Given the description of an element on the screen output the (x, y) to click on. 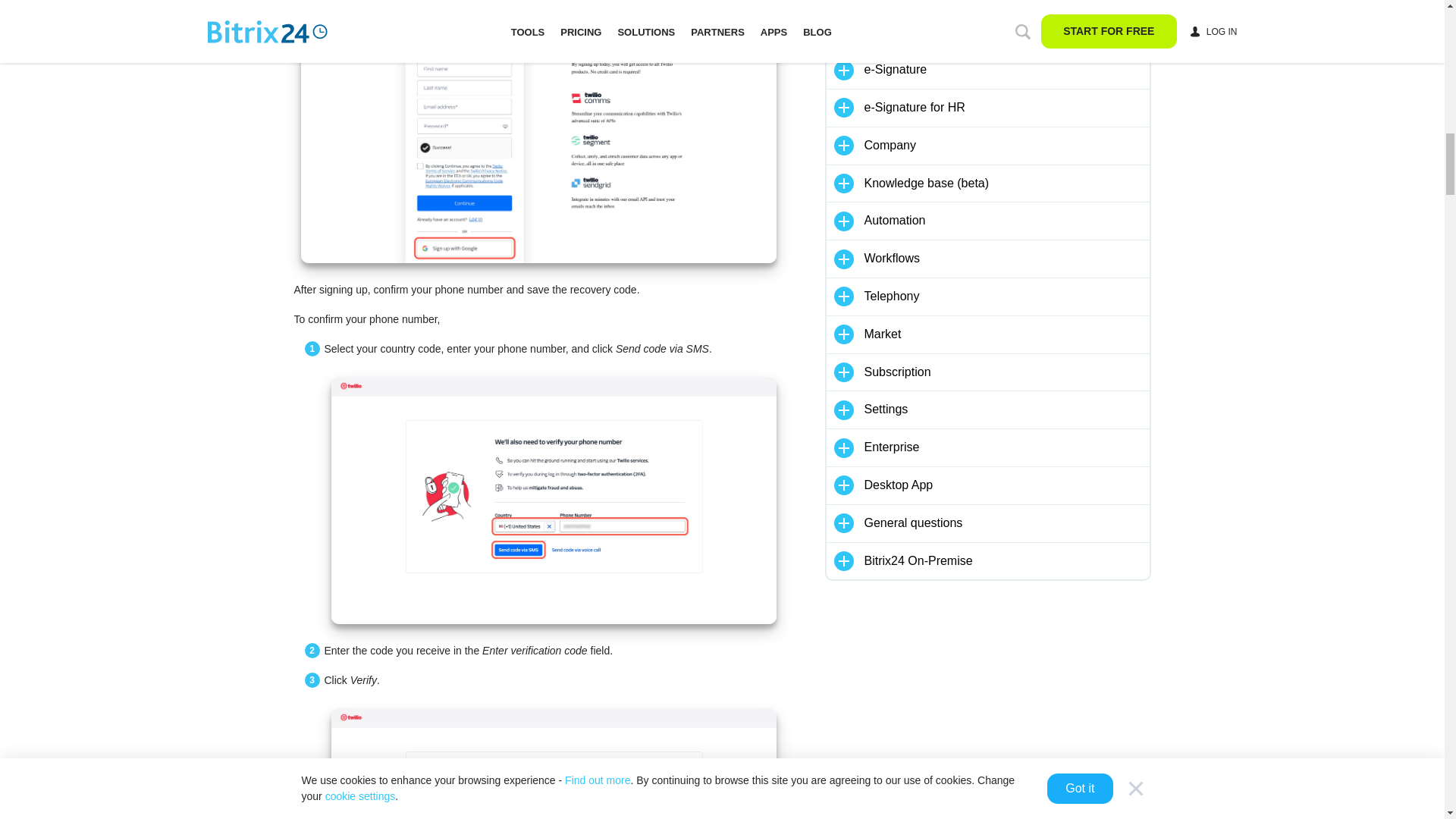
Verify (553, 763)
Send code (553, 500)
Sign up with Google (537, 131)
